Given the description of an element on the screen output the (x, y) to click on. 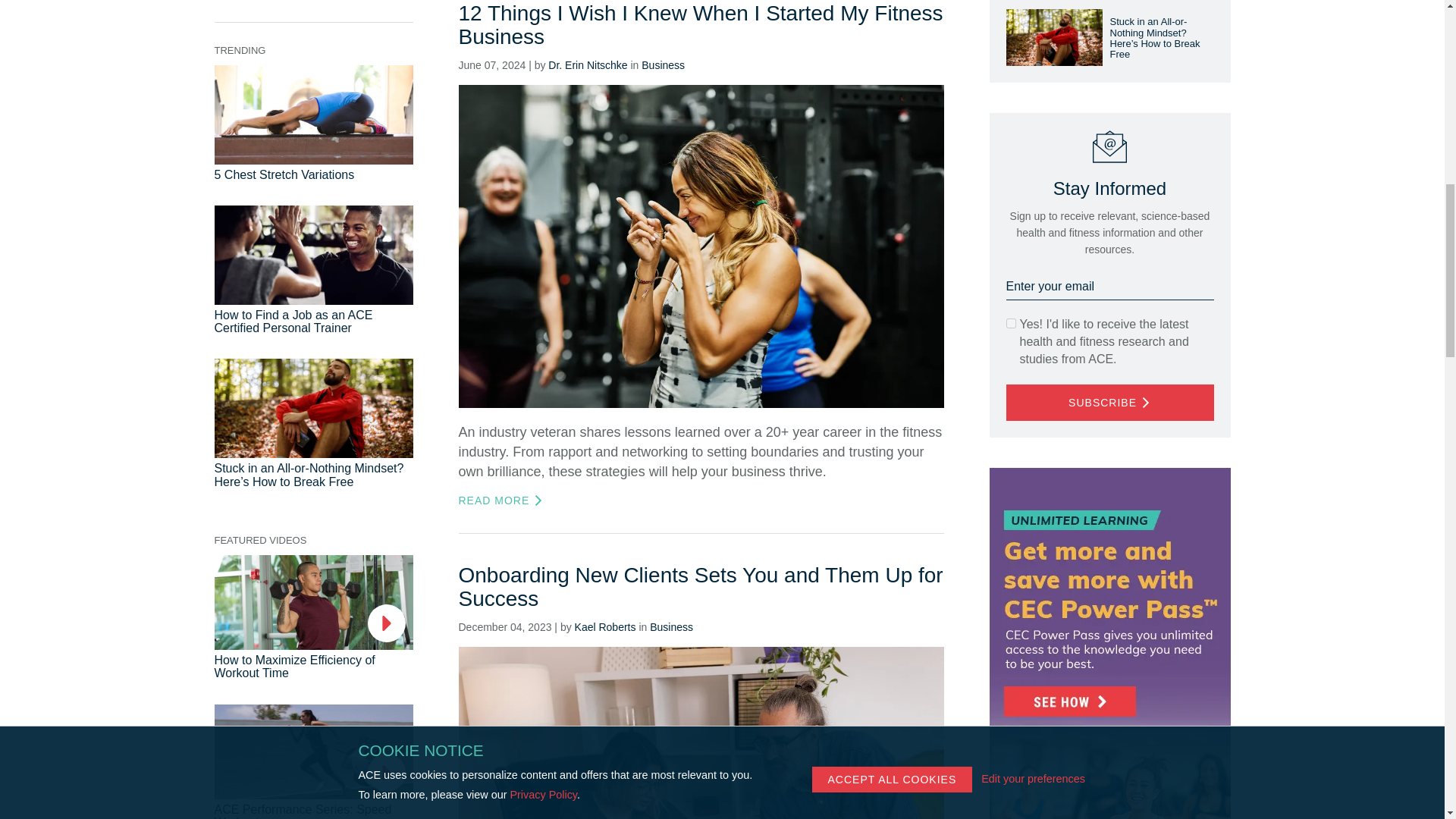
Business (663, 64)
on (1010, 323)
Business (671, 626)
